Given the description of an element on the screen output the (x, y) to click on. 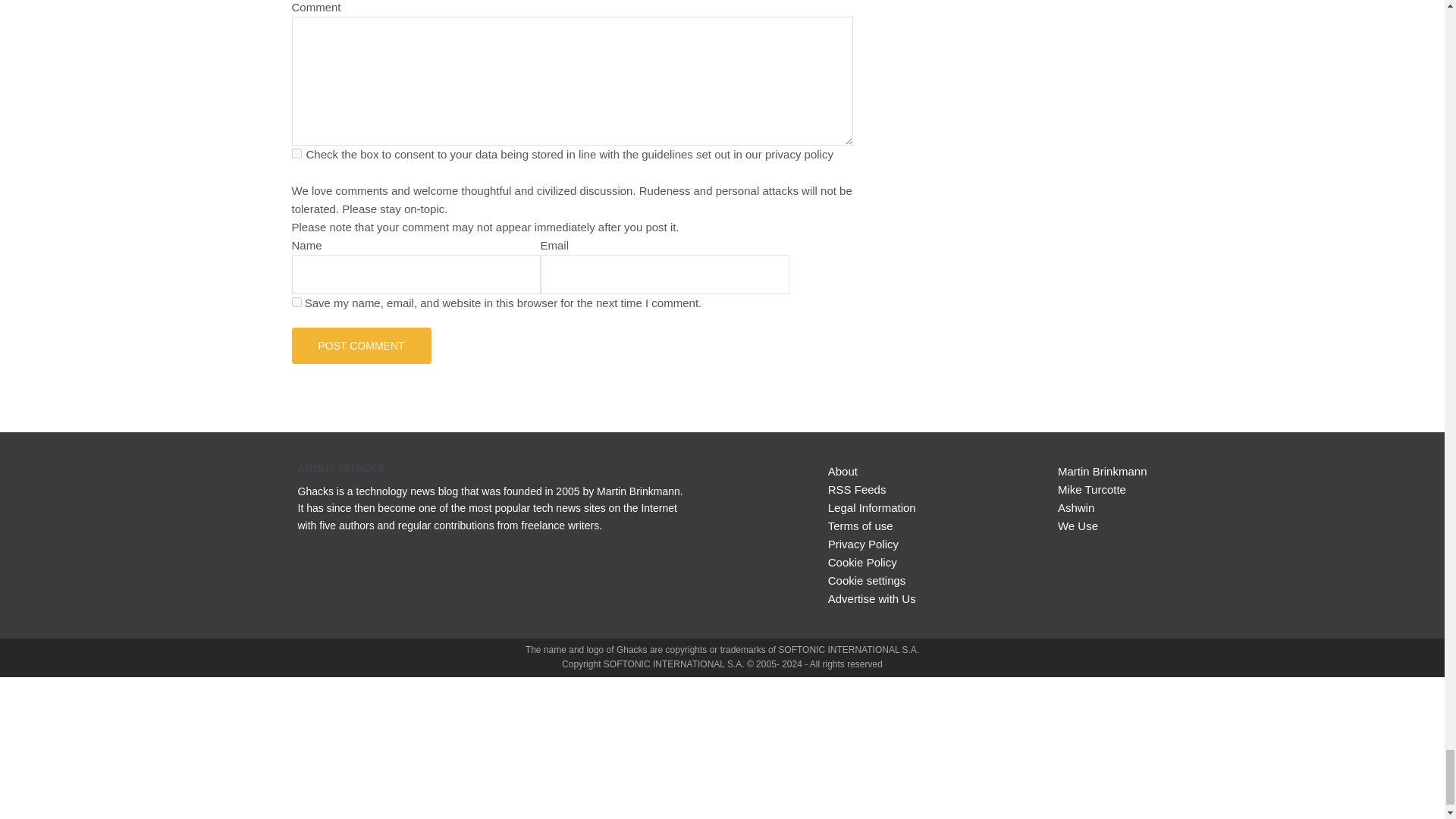
privacy-key (296, 153)
Post Comment (360, 345)
yes (296, 302)
